Given the description of an element on the screen output the (x, y) to click on. 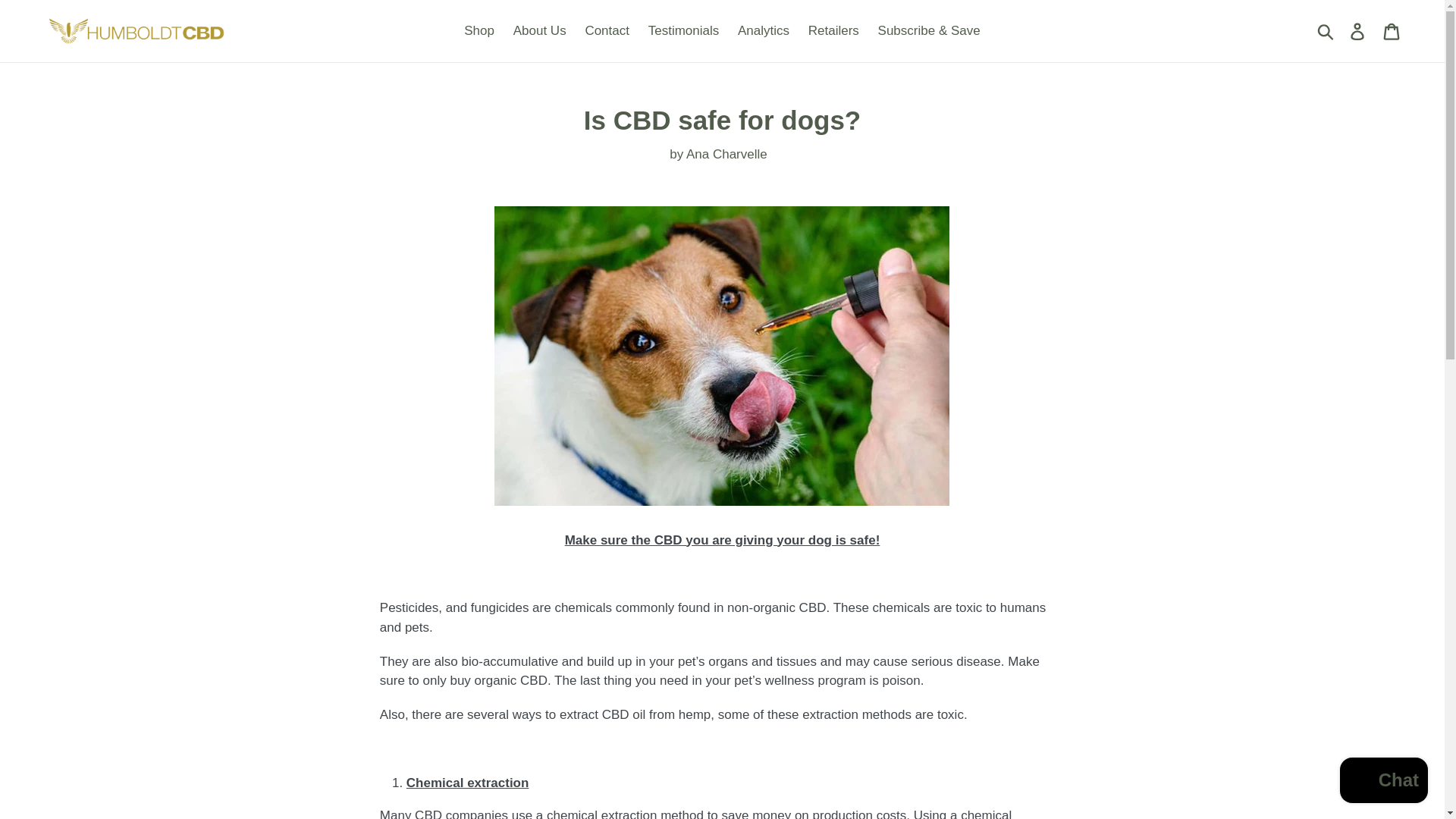
Contact (606, 30)
Cart (1392, 30)
Analytics (763, 30)
About Us (539, 30)
Testimonials (683, 30)
Retailers (833, 30)
Shop (479, 30)
Submit (1326, 30)
Log in (1357, 30)
Shopify online store chat (1383, 781)
